Given the description of an element on the screen output the (x, y) to click on. 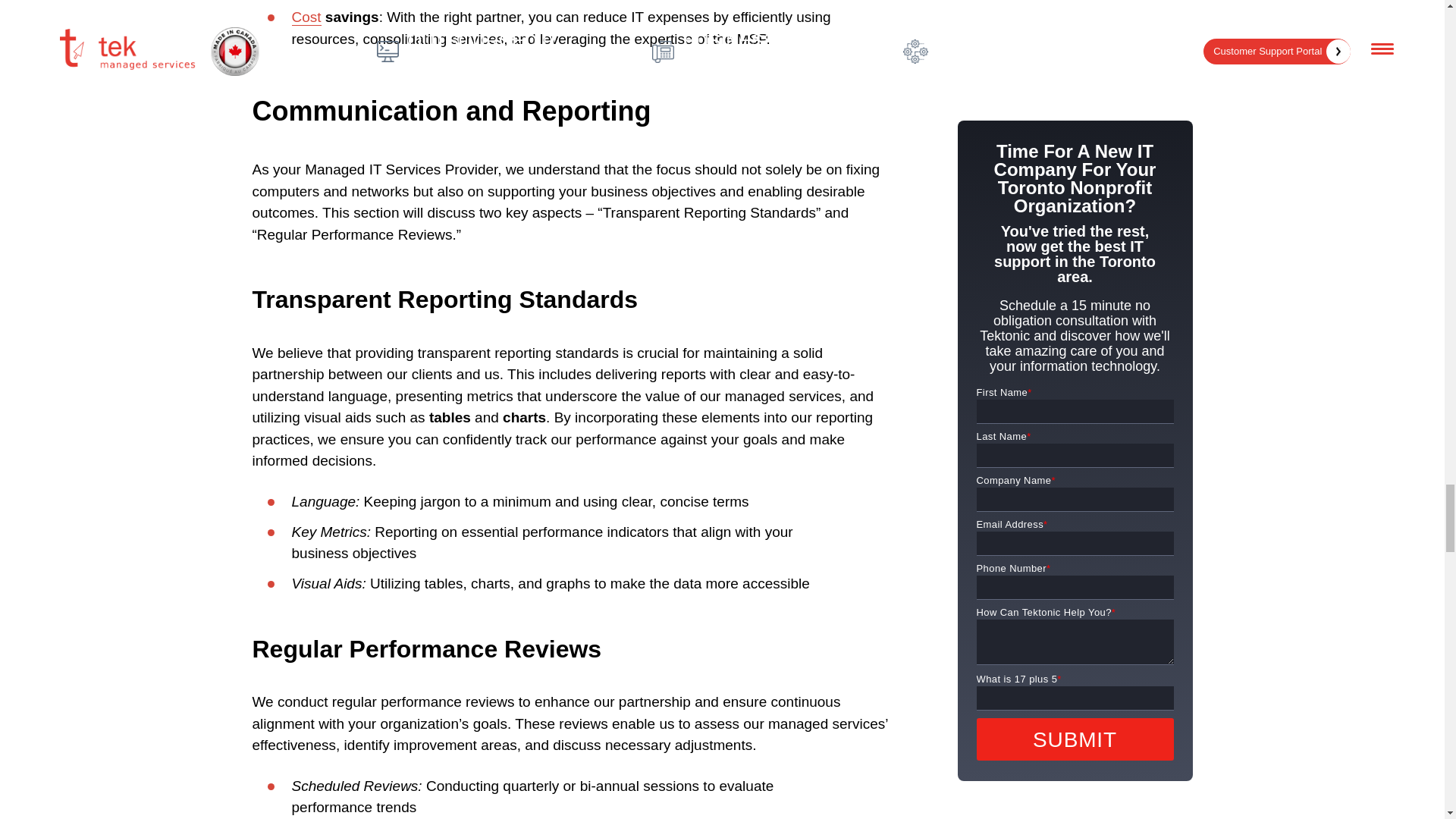
Cost (305, 17)
